Given the description of an element on the screen output the (x, y) to click on. 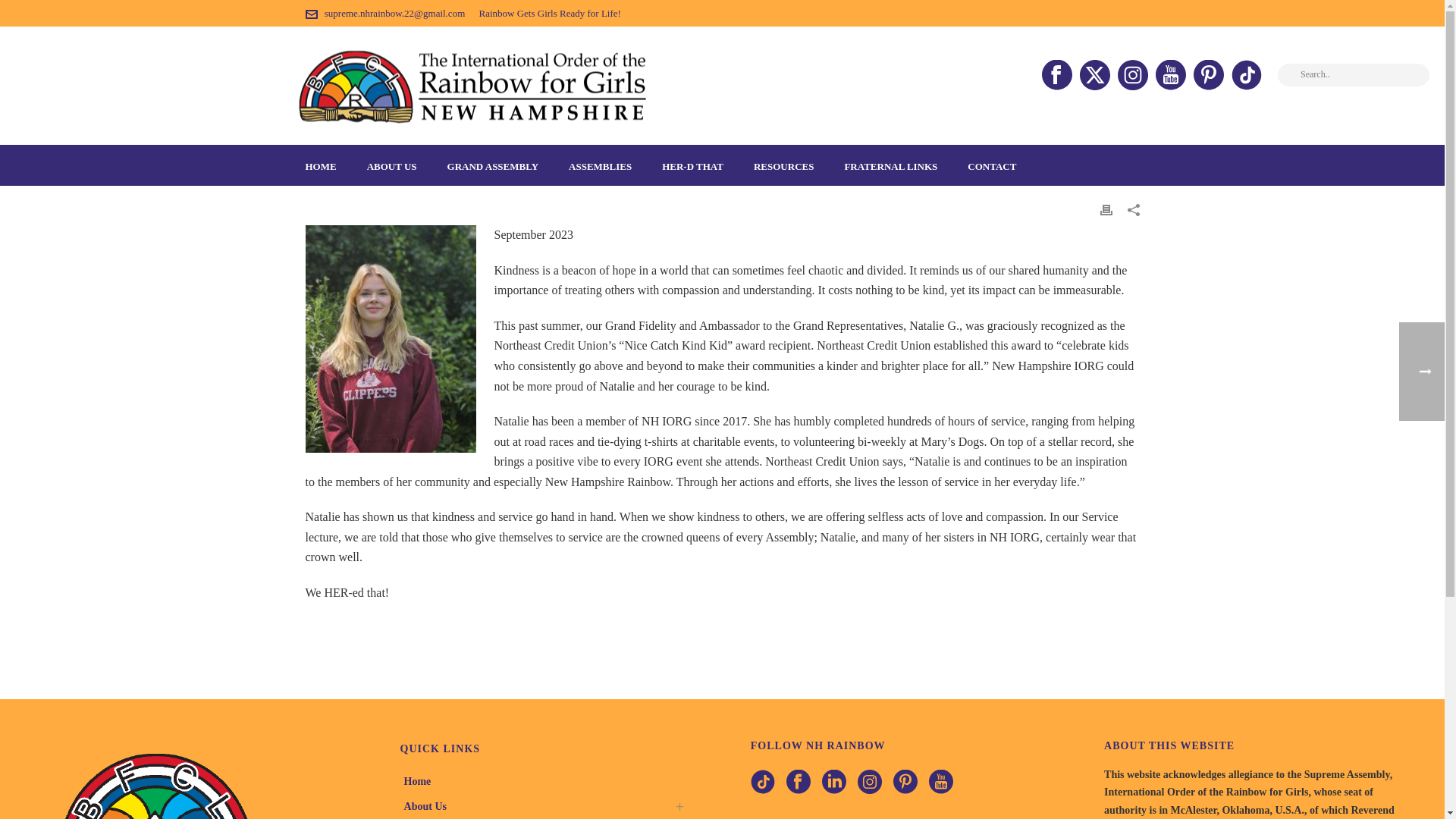
FRATERNAL LINKS (890, 164)
NH Rainbow (471, 84)
ASSEMBLIES (599, 164)
Follow Us on instagram (869, 782)
CONTACT (991, 164)
FRATERNAL LINKS (890, 164)
RESOURCES (783, 164)
HER-D THAT (692, 164)
HOME (319, 164)
HOME (319, 164)
ABOUT US (392, 164)
ASSEMBLIES (599, 164)
GRAND ASSEMBLY (493, 164)
RESOURCES (783, 164)
GRAND ASSEMBLY (493, 164)
